Given the description of an element on the screen output the (x, y) to click on. 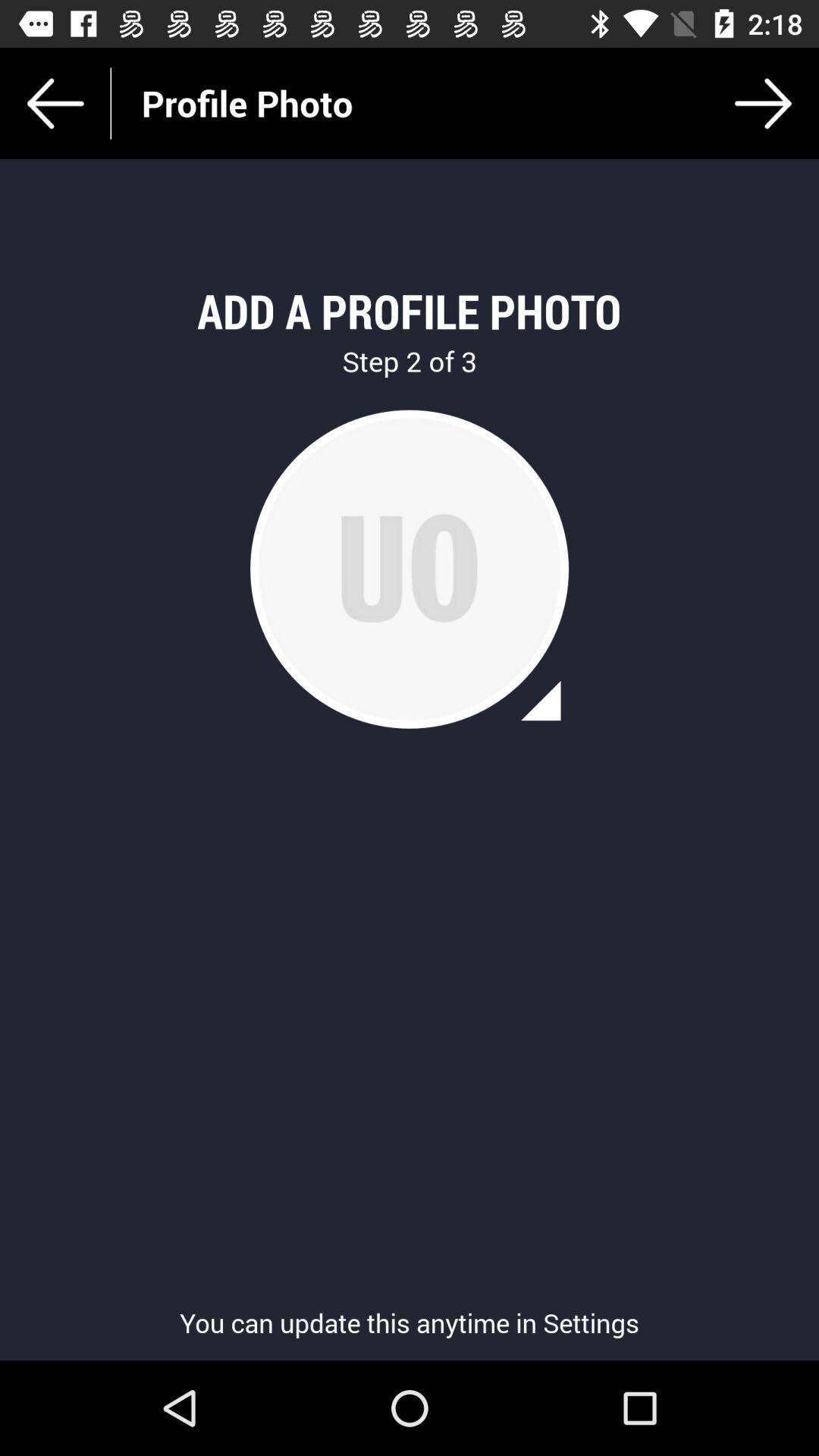
turn on the item at the top right corner (763, 103)
